Given the description of an element on the screen output the (x, y) to click on. 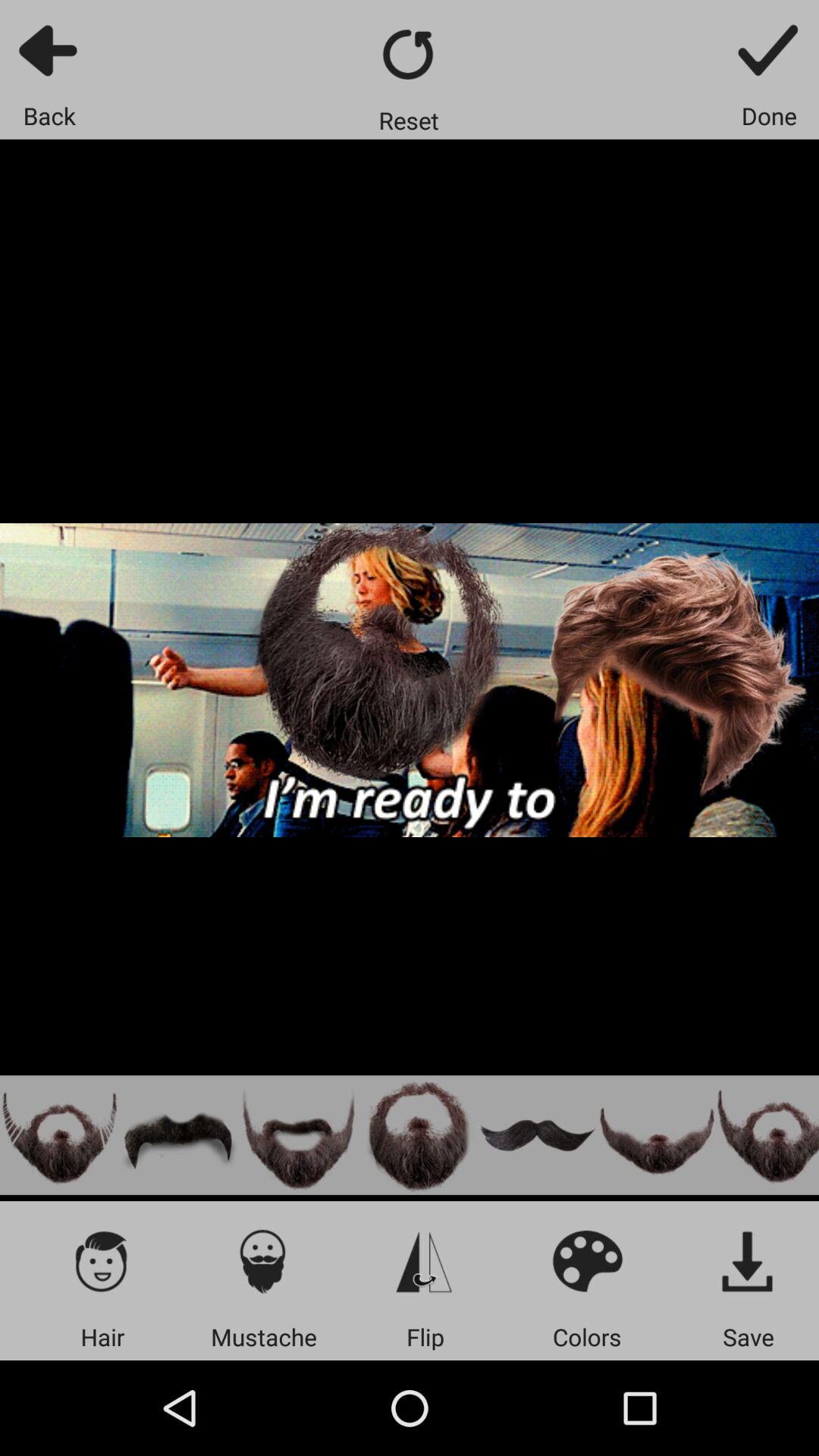
flip image (425, 1260)
